Given the description of an element on the screen output the (x, y) to click on. 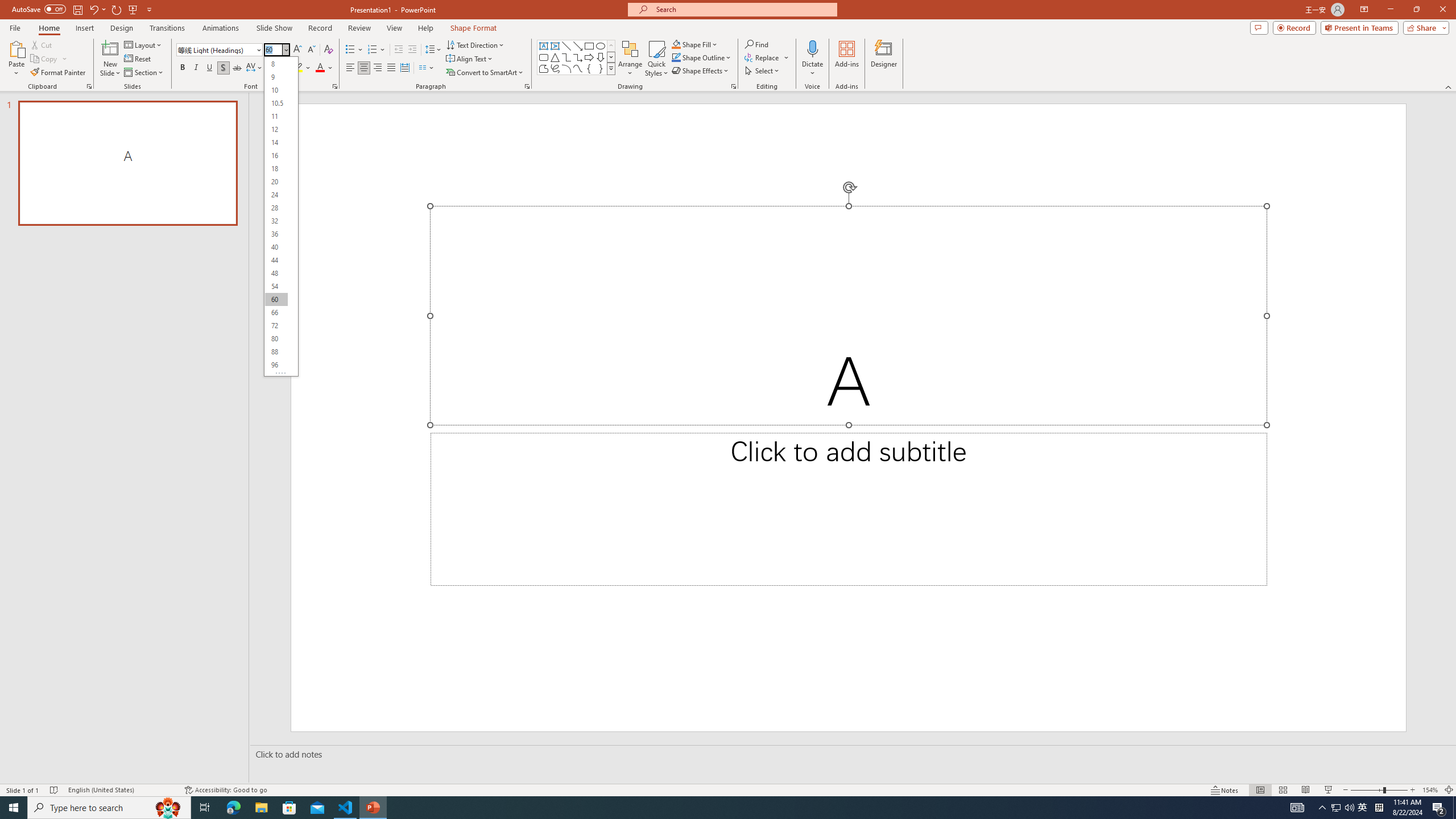
60 (276, 299)
Shape Fill Orange, Accent 2 (675, 44)
Zoom 154% (1430, 790)
28 (276, 207)
20 (276, 181)
